Given the description of an element on the screen output the (x, y) to click on. 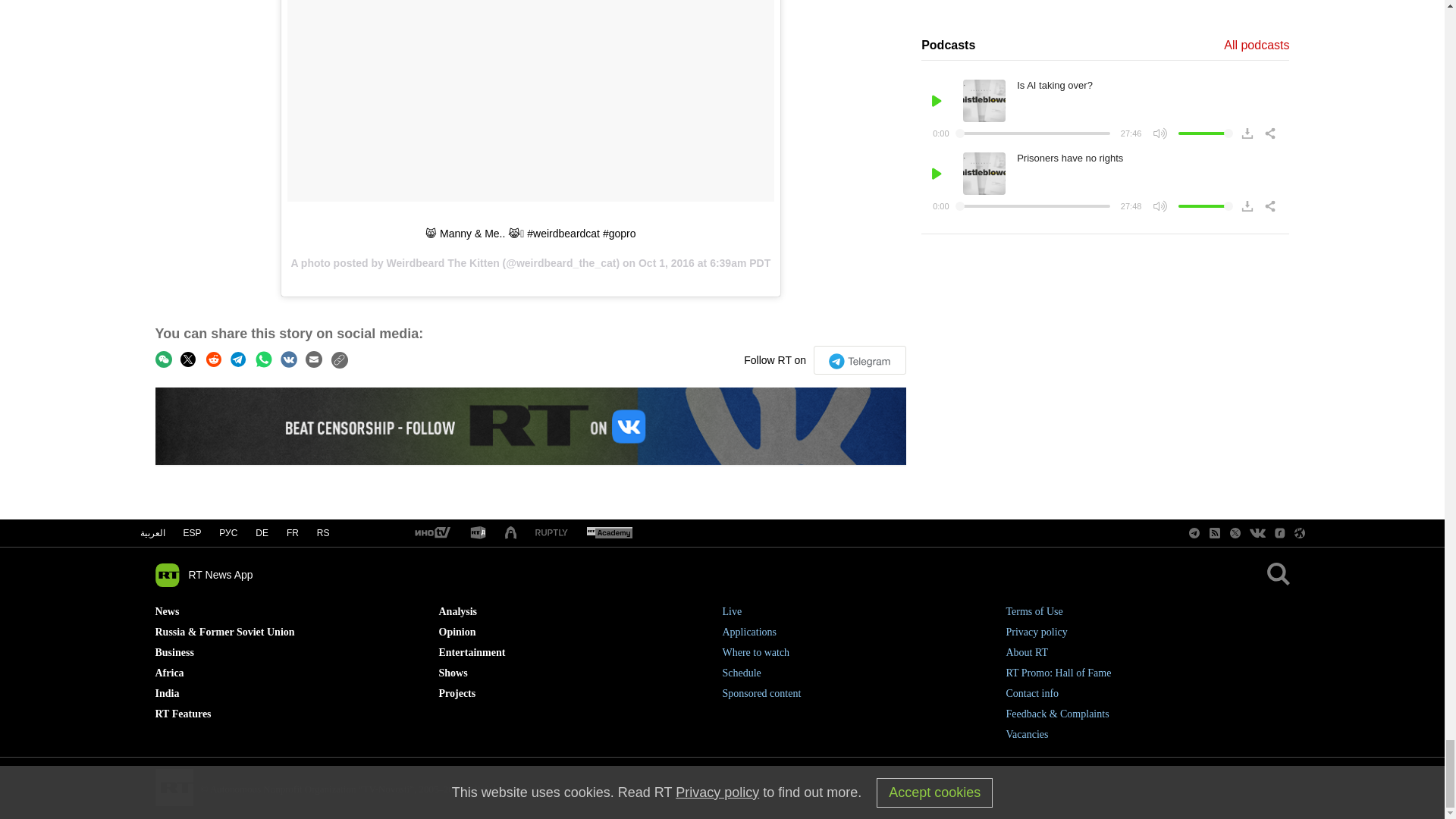
RT  (478, 533)
RT  (608, 533)
RT  (431, 533)
RT  (551, 533)
